Given the description of an element on the screen output the (x, y) to click on. 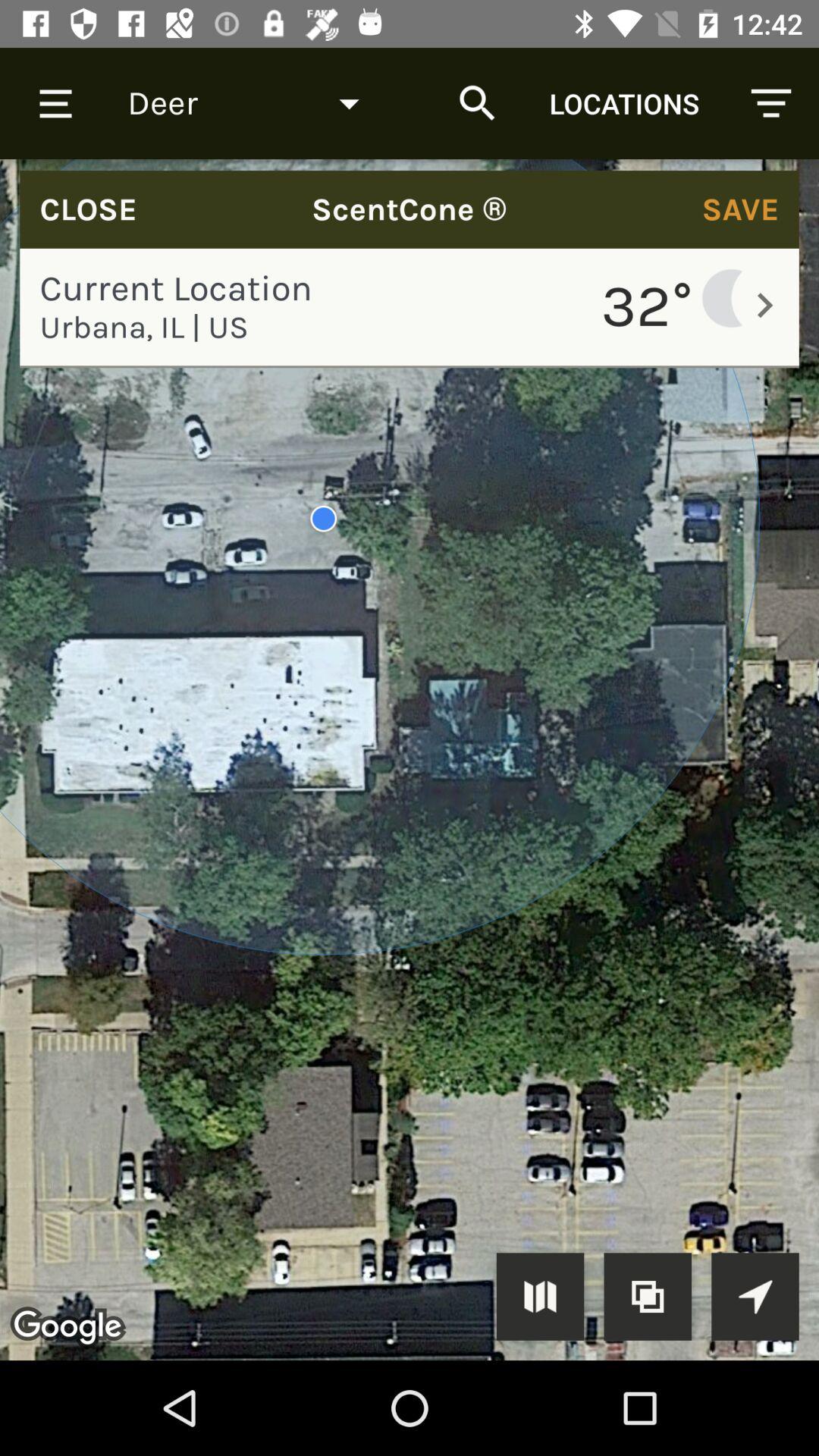
go to customize (647, 1296)
